Given the description of an element on the screen output the (x, y) to click on. 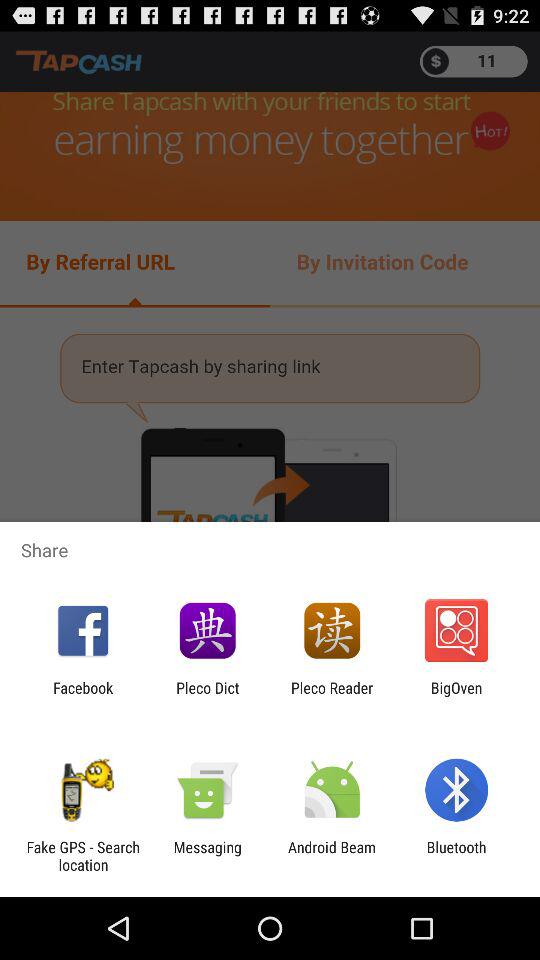
click the icon next to the bluetooth (332, 856)
